Given the description of an element on the screen output the (x, y) to click on. 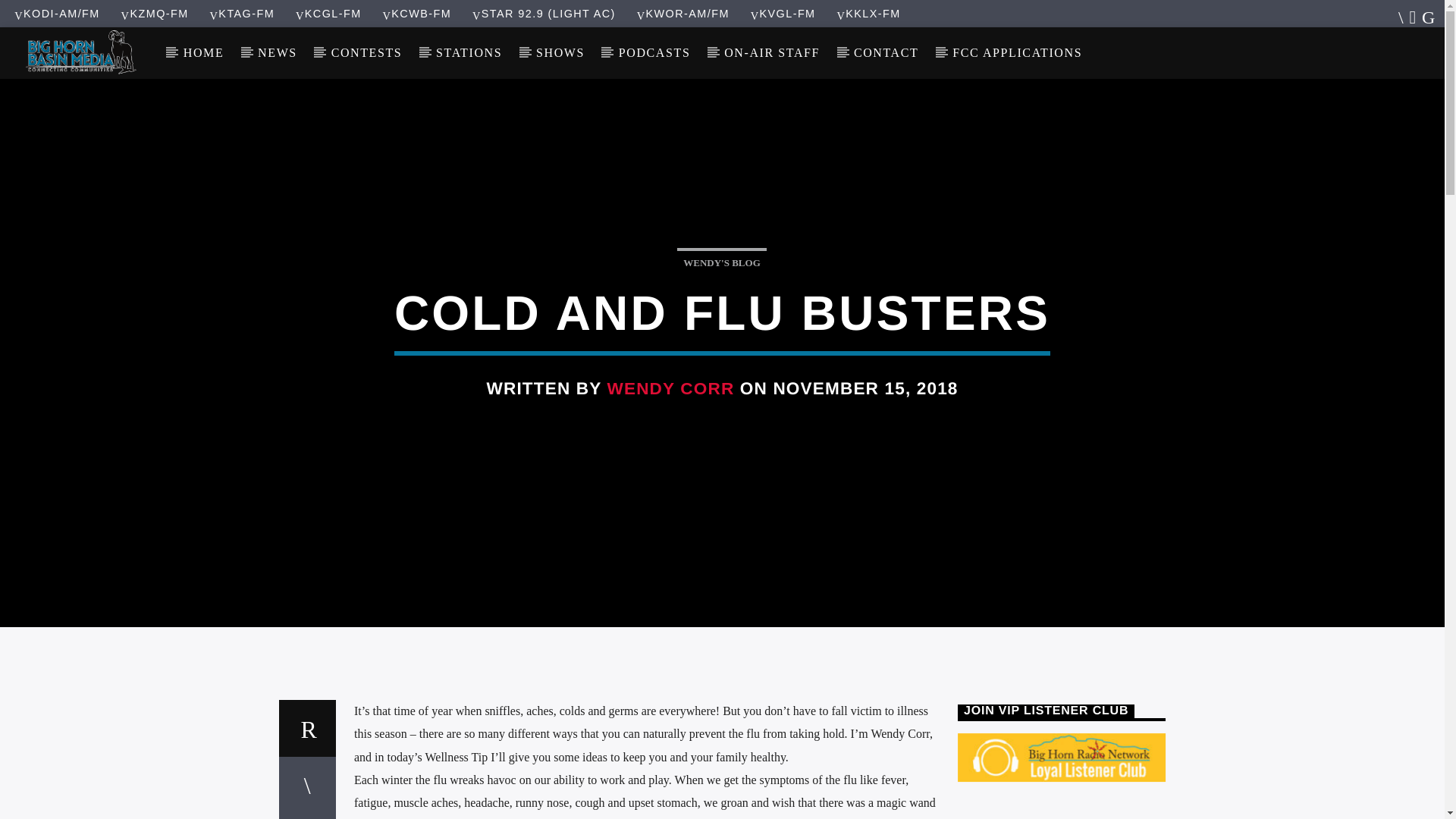
KTAG-FM (242, 13)
SHOWS (560, 52)
KCWB-FM (416, 13)
STATIONS (469, 52)
Posts by Wendy Corr (670, 388)
CONTESTS (366, 52)
NEWS (277, 52)
HOME (202, 52)
KKLX-FM (867, 13)
KCGL-FM (328, 13)
KZMQ-FM (155, 13)
PODCASTS (653, 52)
KVGL-FM (783, 13)
